Given the description of an element on the screen output the (x, y) to click on. 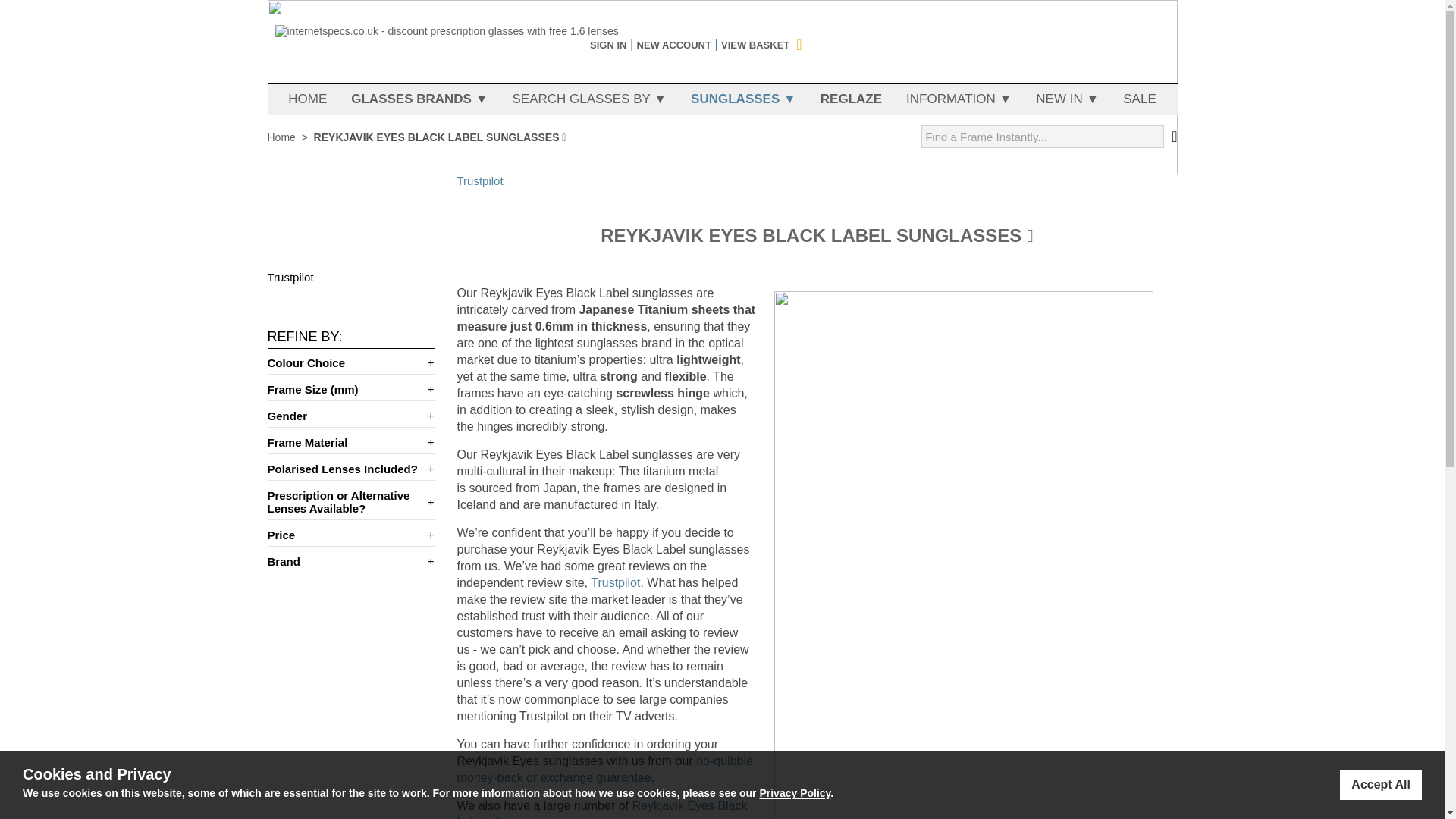
Maximise (427, 561)
Maximise (344, 389)
HOME (307, 98)
Maximise (344, 362)
Trustpilot (479, 180)
Maximise (344, 534)
Maximise (427, 441)
Maximise (601, 809)
Trustpilot (427, 468)
Maximise (615, 582)
Maximise (604, 768)
Maximise (344, 501)
Home (344, 441)
